Given the description of an element on the screen output the (x, y) to click on. 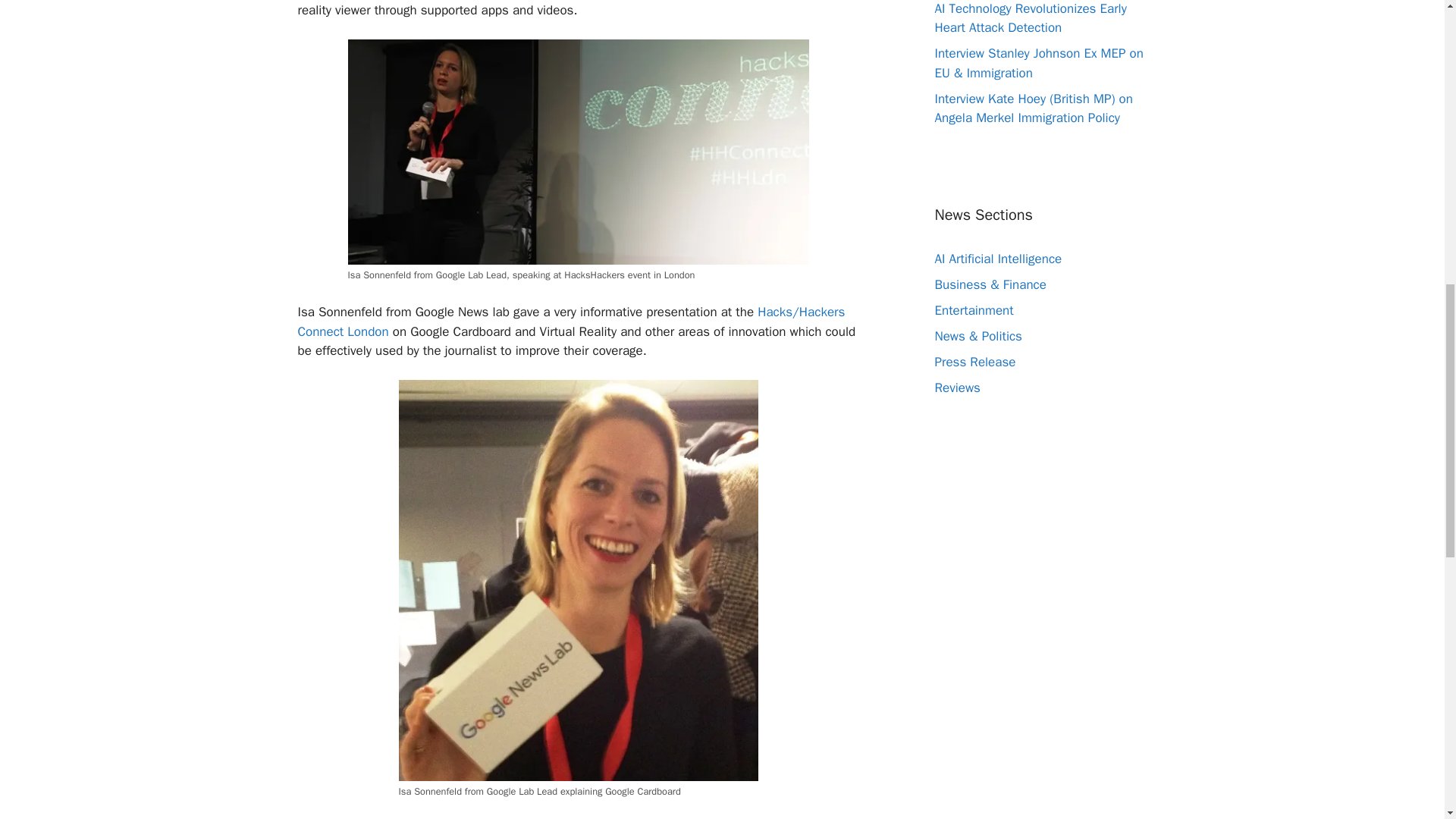
AI Artificial Intelligence (997, 258)
Reviews (956, 387)
AI Technology Revolutionizes Early Heart Attack Detection (1029, 18)
Press Release (974, 361)
Entertainment (973, 310)
